Given the description of an element on the screen output the (x, y) to click on. 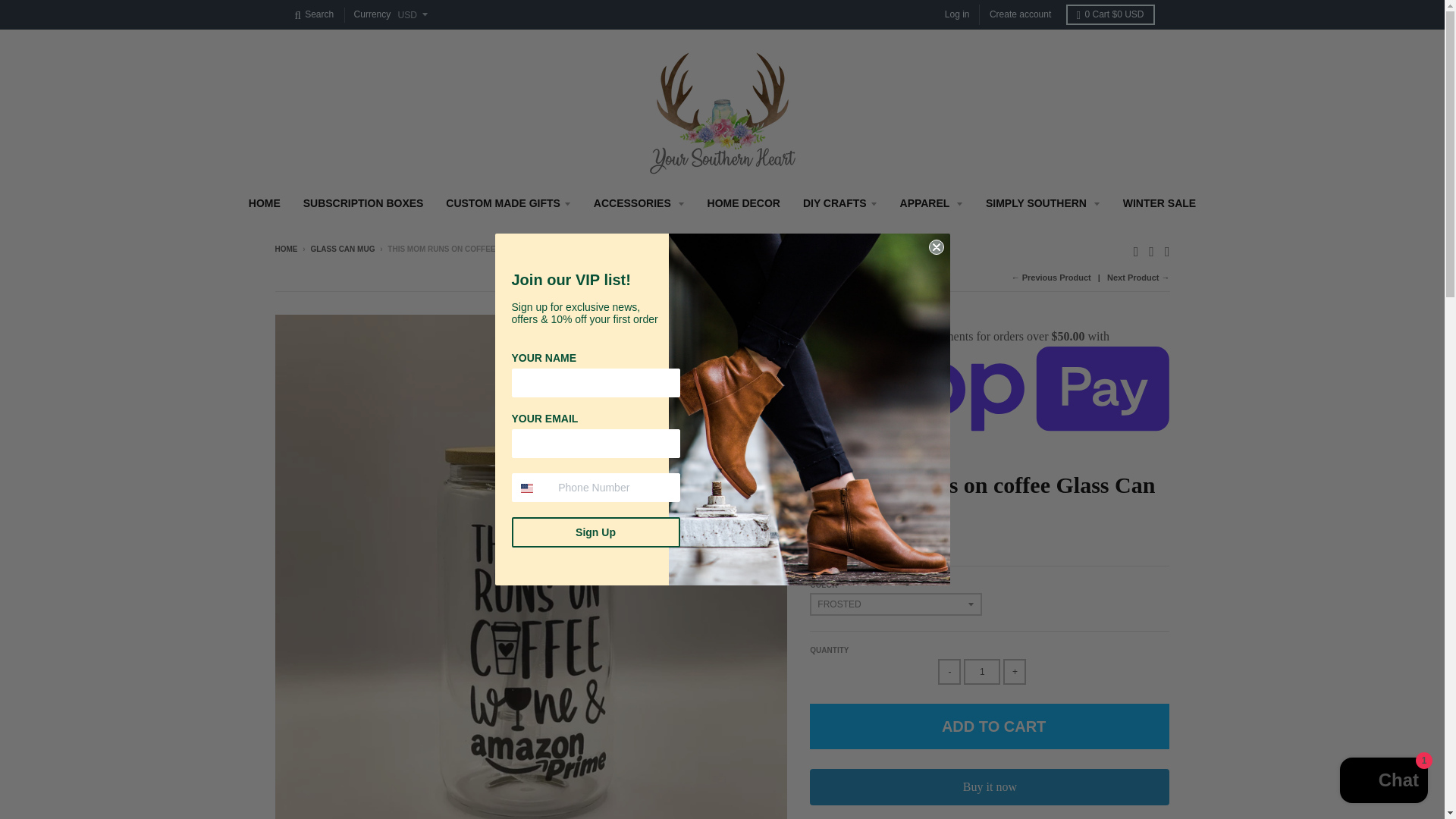
Create account (1020, 14)
CUSTOM MADE GIFTS (507, 203)
Your Southern Heart  on Facebook (1151, 250)
Shopify online store chat (1383, 781)
DIY CRAFTS (839, 203)
Your Southern Heart  on Twitter (1136, 250)
HOME DECOR (743, 203)
Back to the frontpage (286, 248)
SUBSCRIPTION BOXES (363, 203)
ACCESSORIES (638, 203)
1 (981, 671)
United States (525, 488)
Your Southern Heart  on Instagram (1167, 250)
Log in (957, 14)
HOME (263, 203)
